Given the description of an element on the screen output the (x, y) to click on. 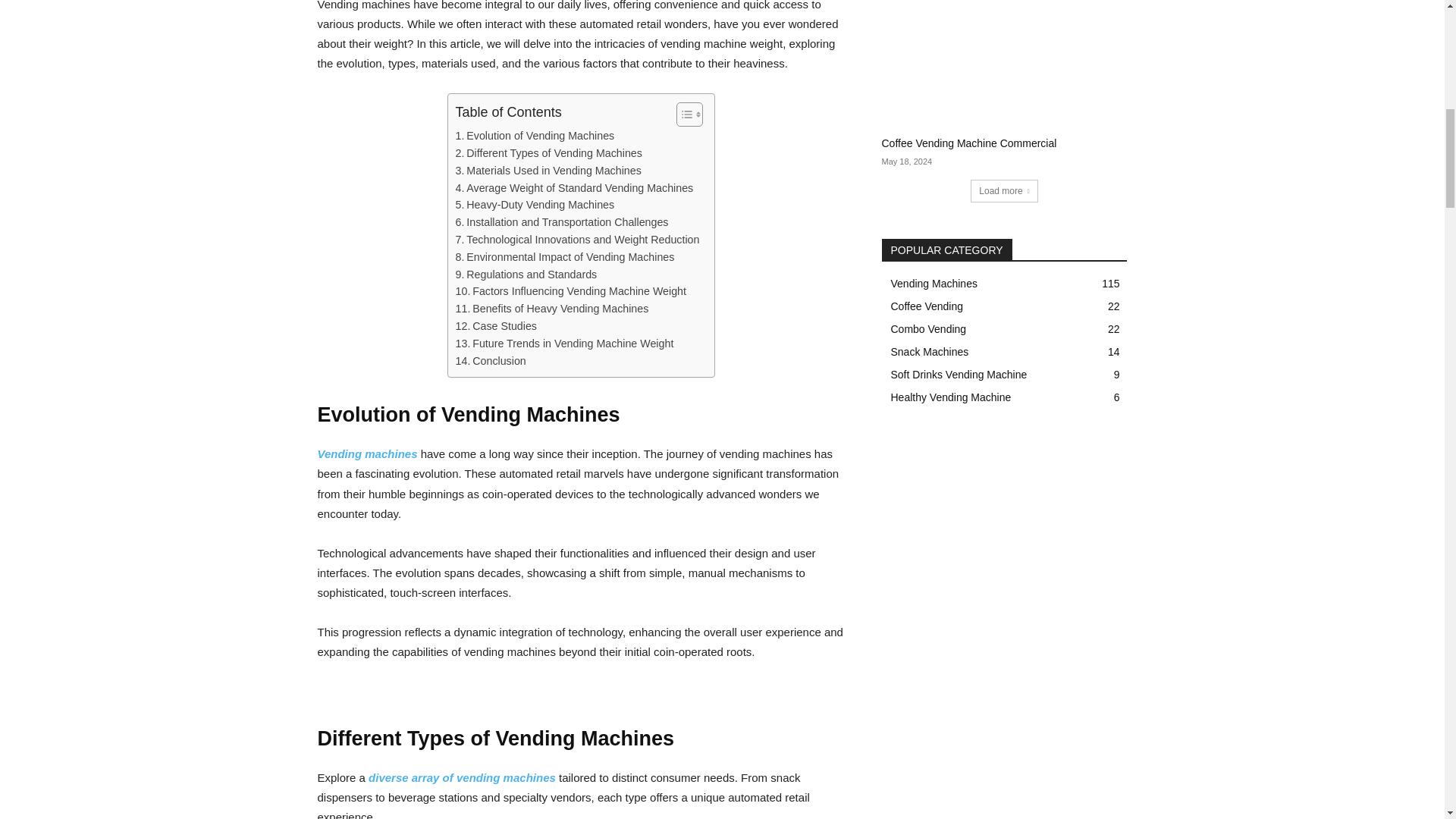
Different Types of Vending Machines (548, 153)
Evolution of Vending Machines (534, 135)
